Given the description of an element on the screen output the (x, y) to click on. 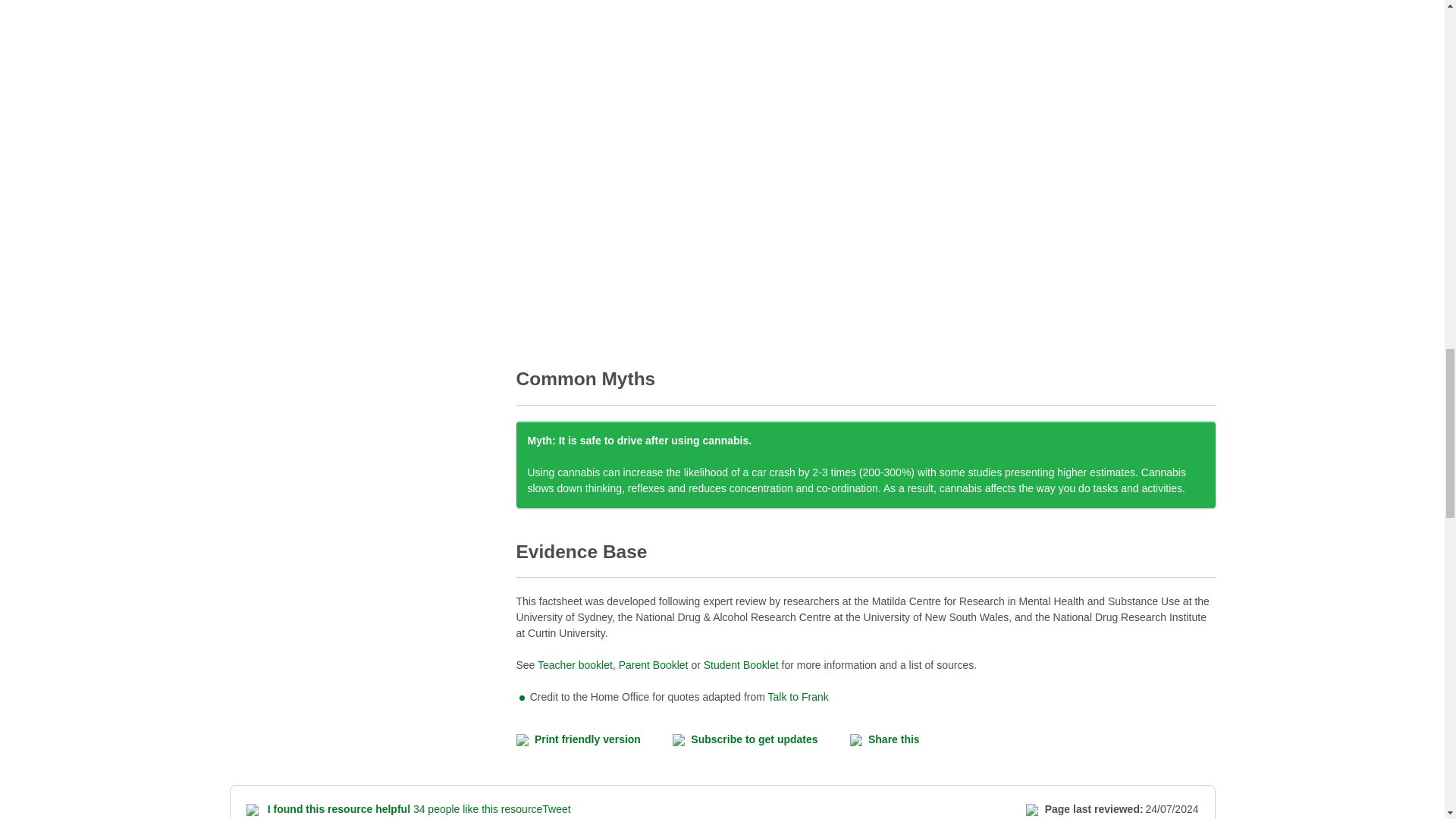
Share this resource (901, 739)
Download and print a PDF of this resource (593, 739)
